Given the description of an element on the screen output the (x, y) to click on. 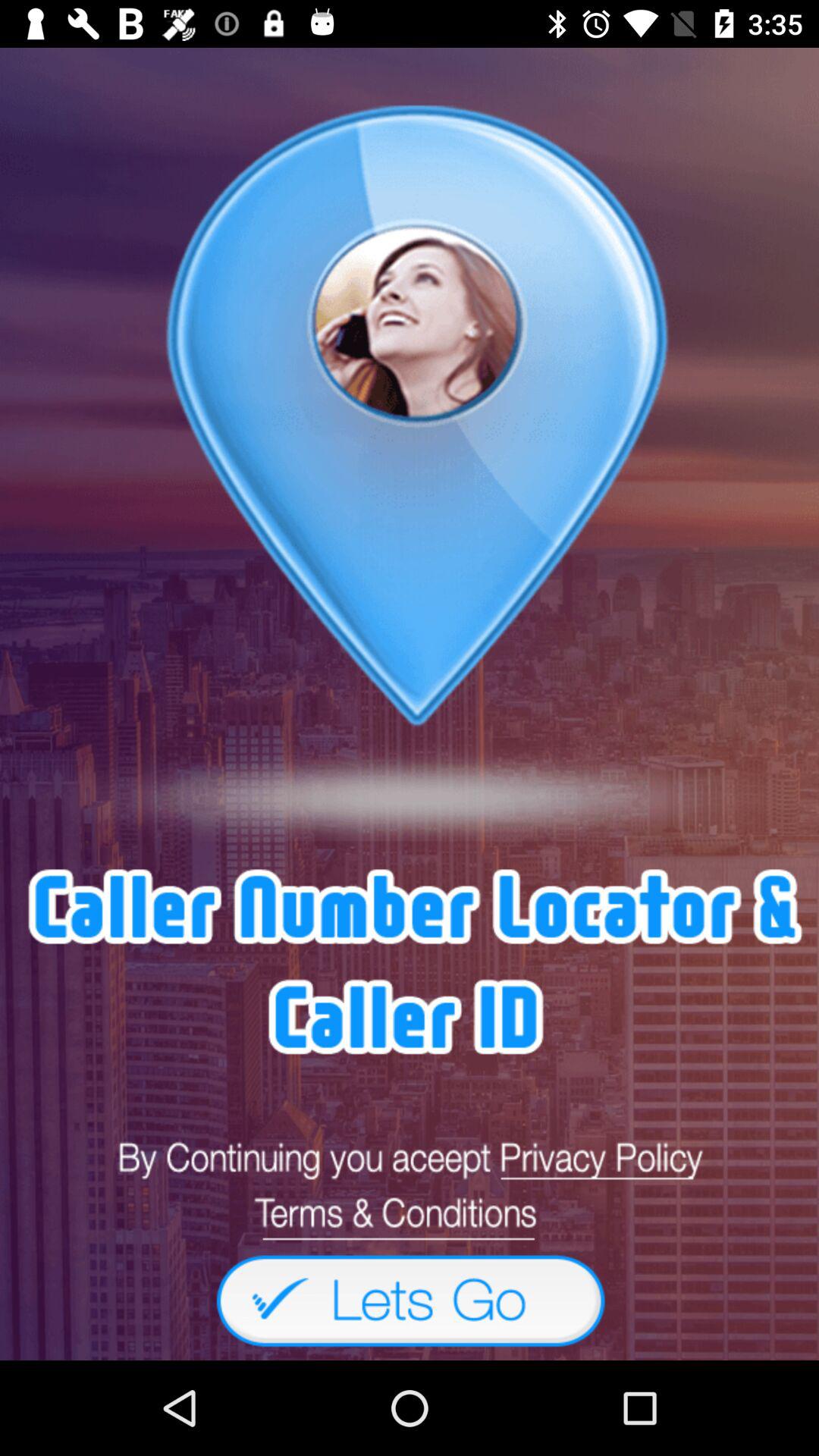
select let 's go (409, 1300)
